Given the description of an element on the screen output the (x, y) to click on. 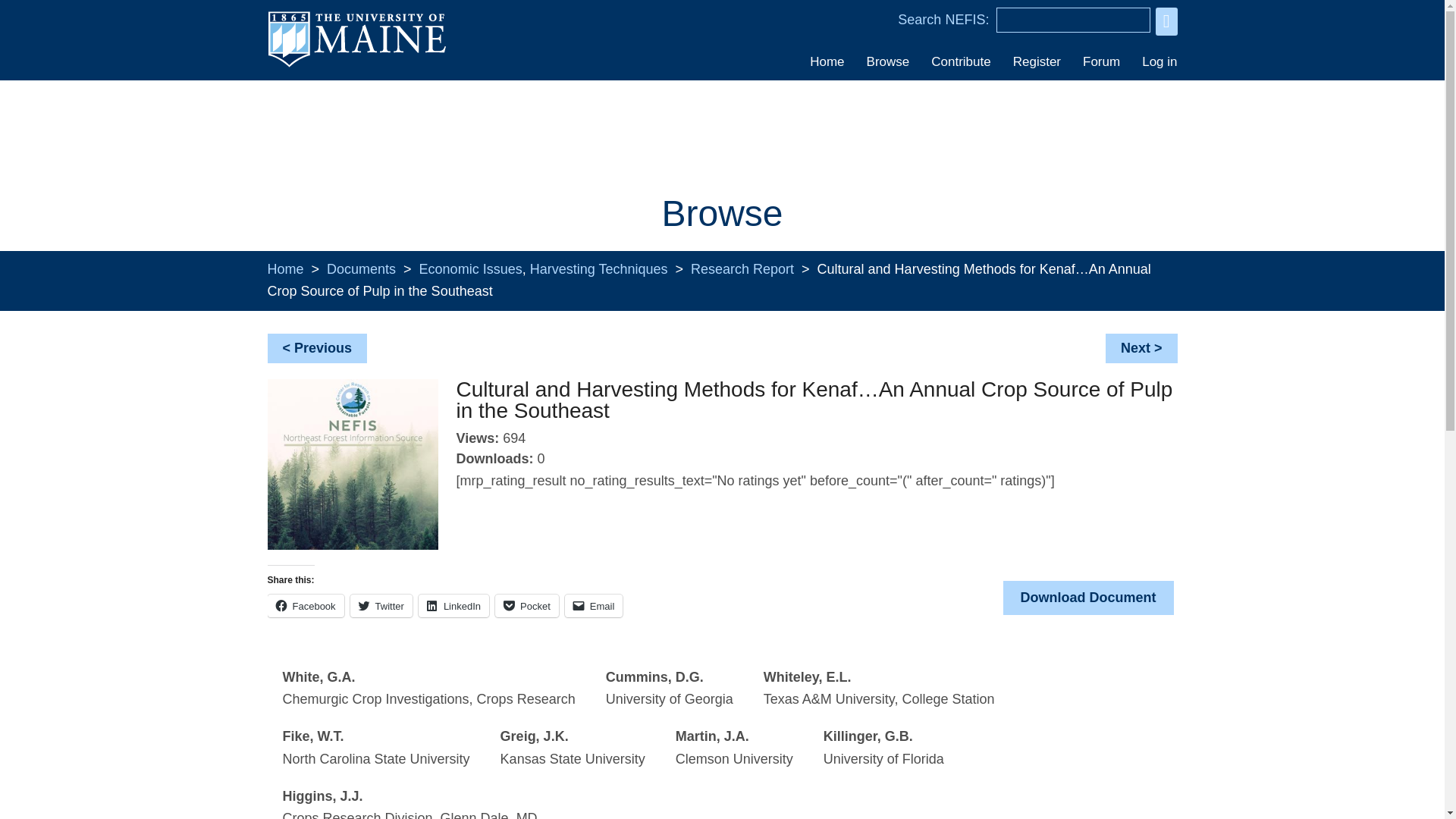
Research Report (741, 268)
Click to share on Twitter (381, 605)
Email (593, 605)
Facebook (304, 605)
Log in (1154, 61)
LinkedIn (454, 605)
Home (826, 61)
Documents (361, 268)
Next (1135, 347)
Twitter (381, 605)
Browse (887, 61)
Previous (323, 347)
Log in (1154, 61)
University of Maine (355, 65)
Click to share on LinkedIn (454, 605)
